Given the description of an element on the screen output the (x, y) to click on. 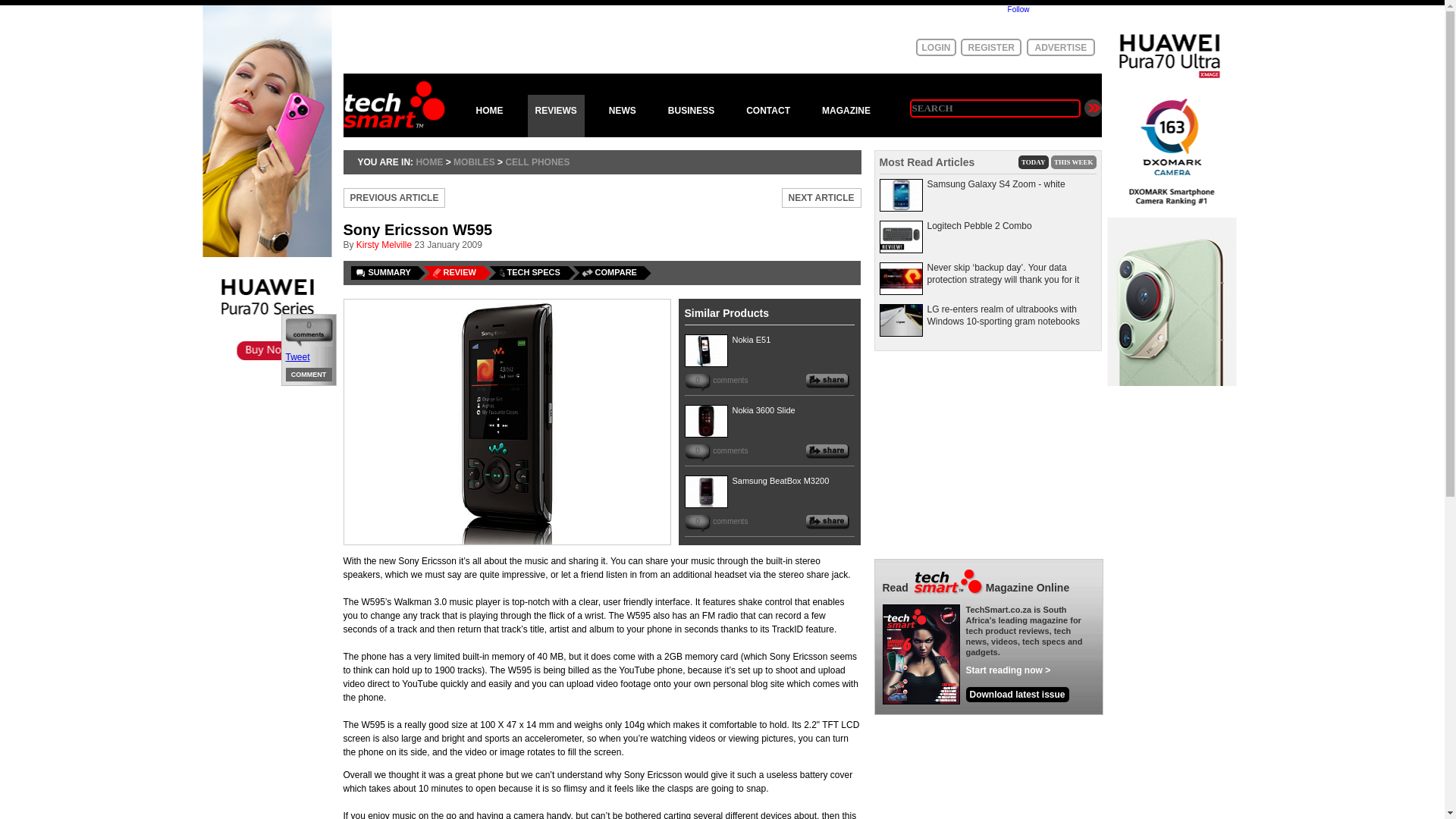
Samsung Galaxy S4 Zoom - white (995, 184)
COMMENT (308, 374)
SEARCH (995, 108)
NEWS (622, 116)
LOGIN (935, 47)
PREVIOUS ARTICLE (393, 198)
SEARCH (995, 108)
Logitech Pebble 2 Combo (978, 225)
MOBILES (473, 162)
Nokia E51 (751, 338)
ADVERTISE (1060, 47)
HOME (428, 162)
NEXT ARTICLE (821, 198)
COMPARE (611, 273)
REVIEW (456, 273)
